Given the description of an element on the screen output the (x, y) to click on. 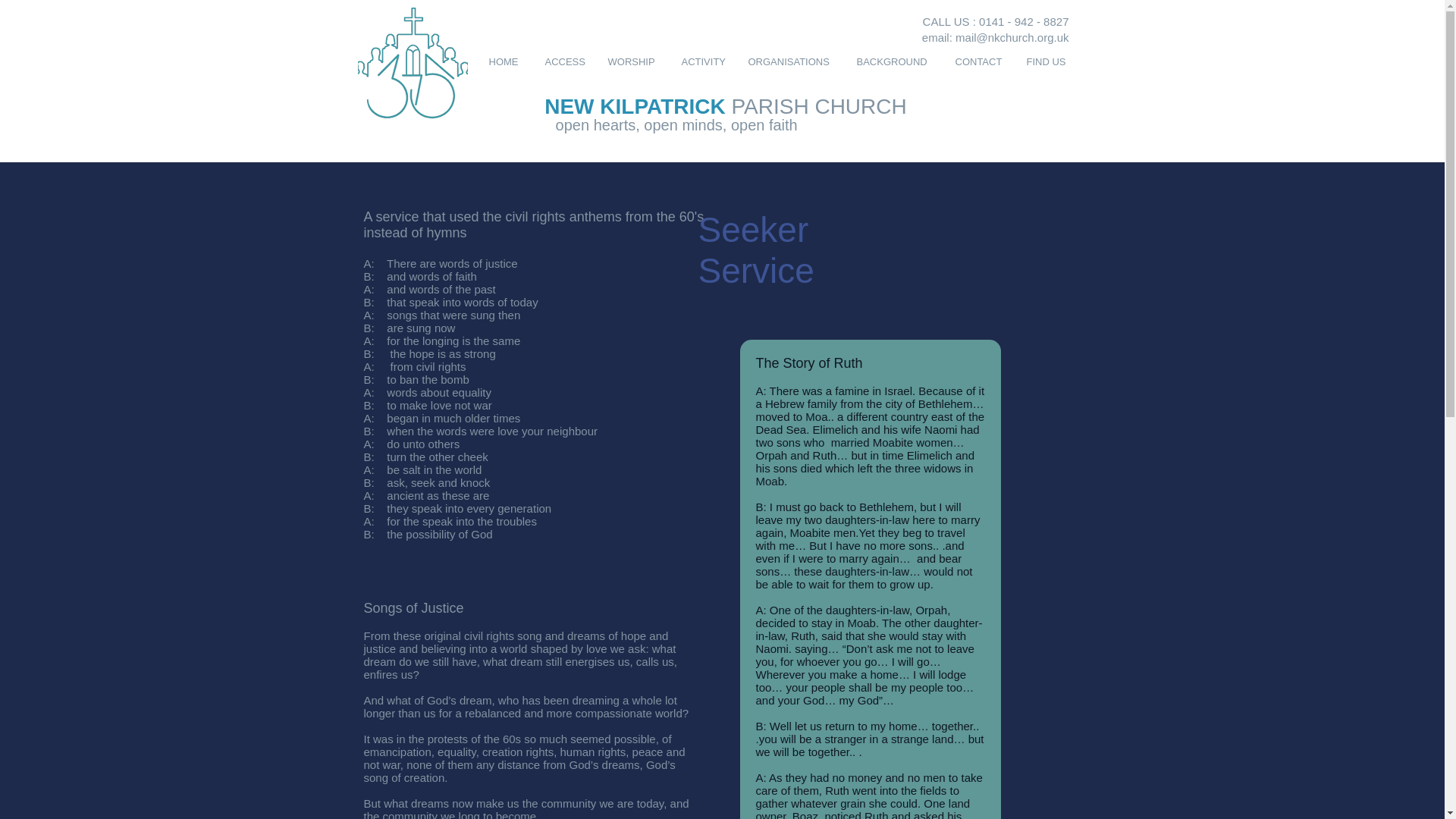
ACCESS (563, 61)
NK Logo no words.jpg (412, 62)
HOME (504, 61)
CONTACT (978, 61)
FIND US (1047, 61)
